Given the description of an element on the screen output the (x, y) to click on. 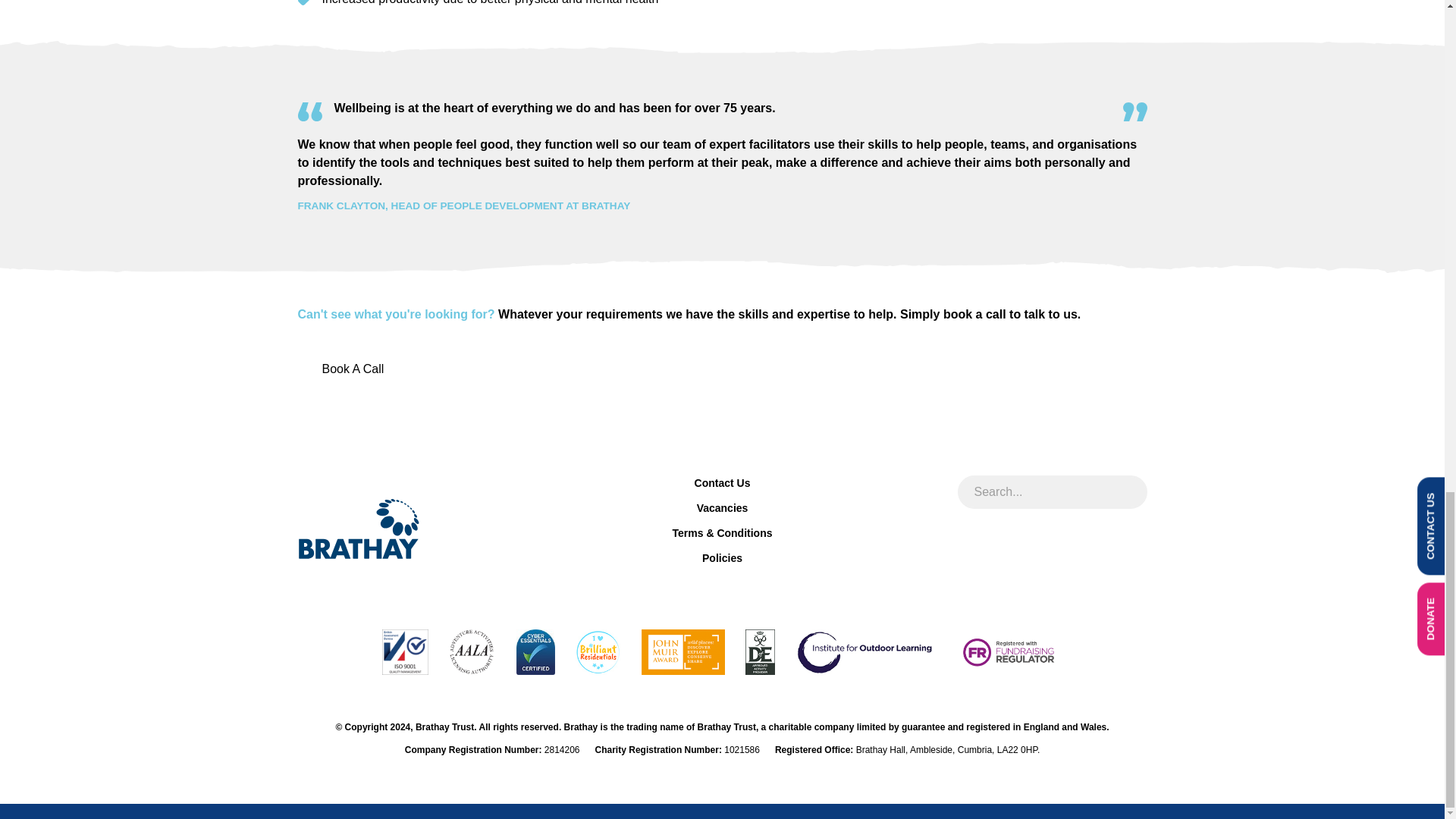
Policies (721, 558)
Vacancies (722, 508)
Contact Us (722, 483)
Book A Call (352, 368)
